Given the description of an element on the screen output the (x, y) to click on. 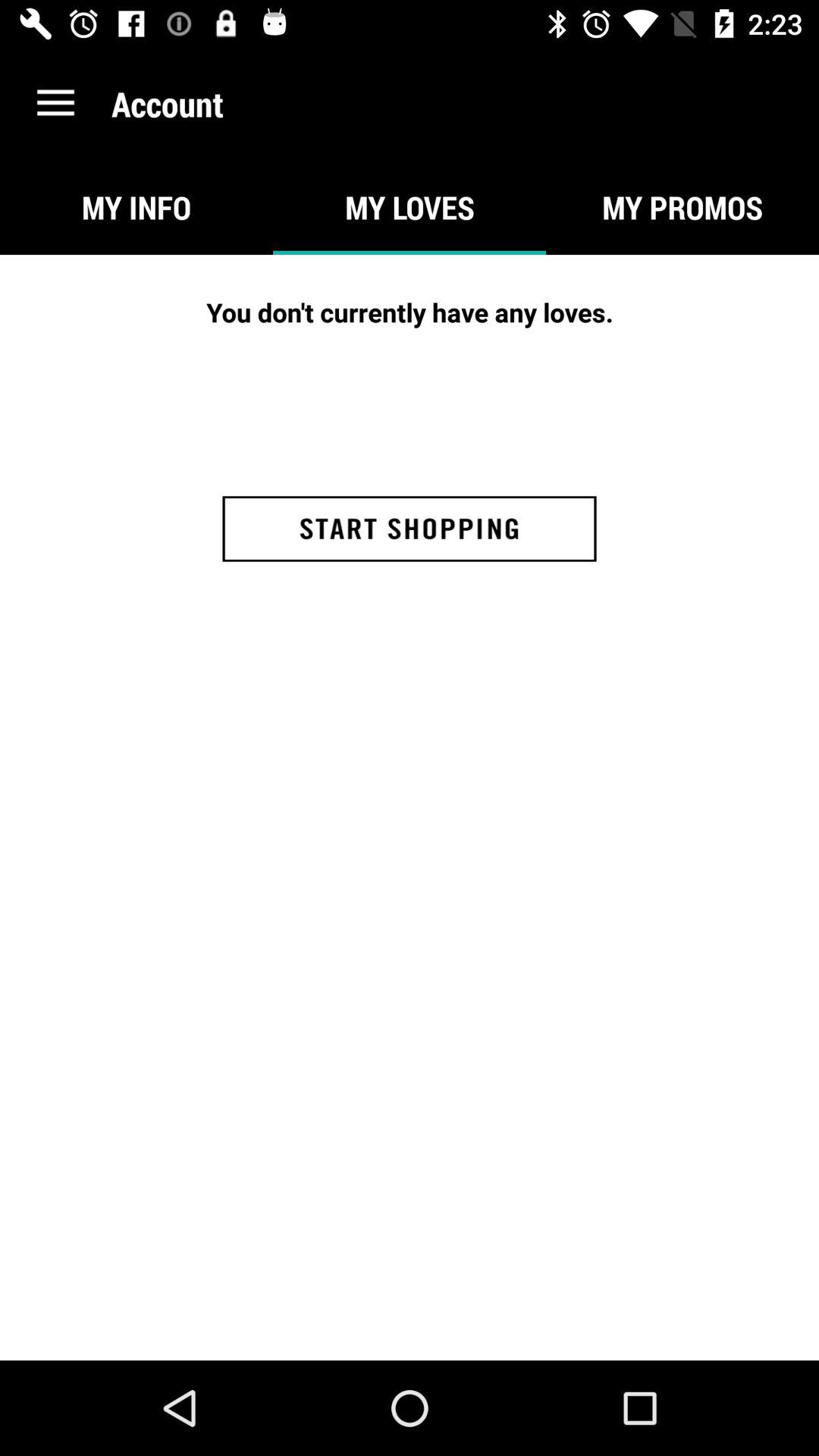
press the icon to the left of the account icon (55, 103)
